Given the description of an element on the screen output the (x, y) to click on. 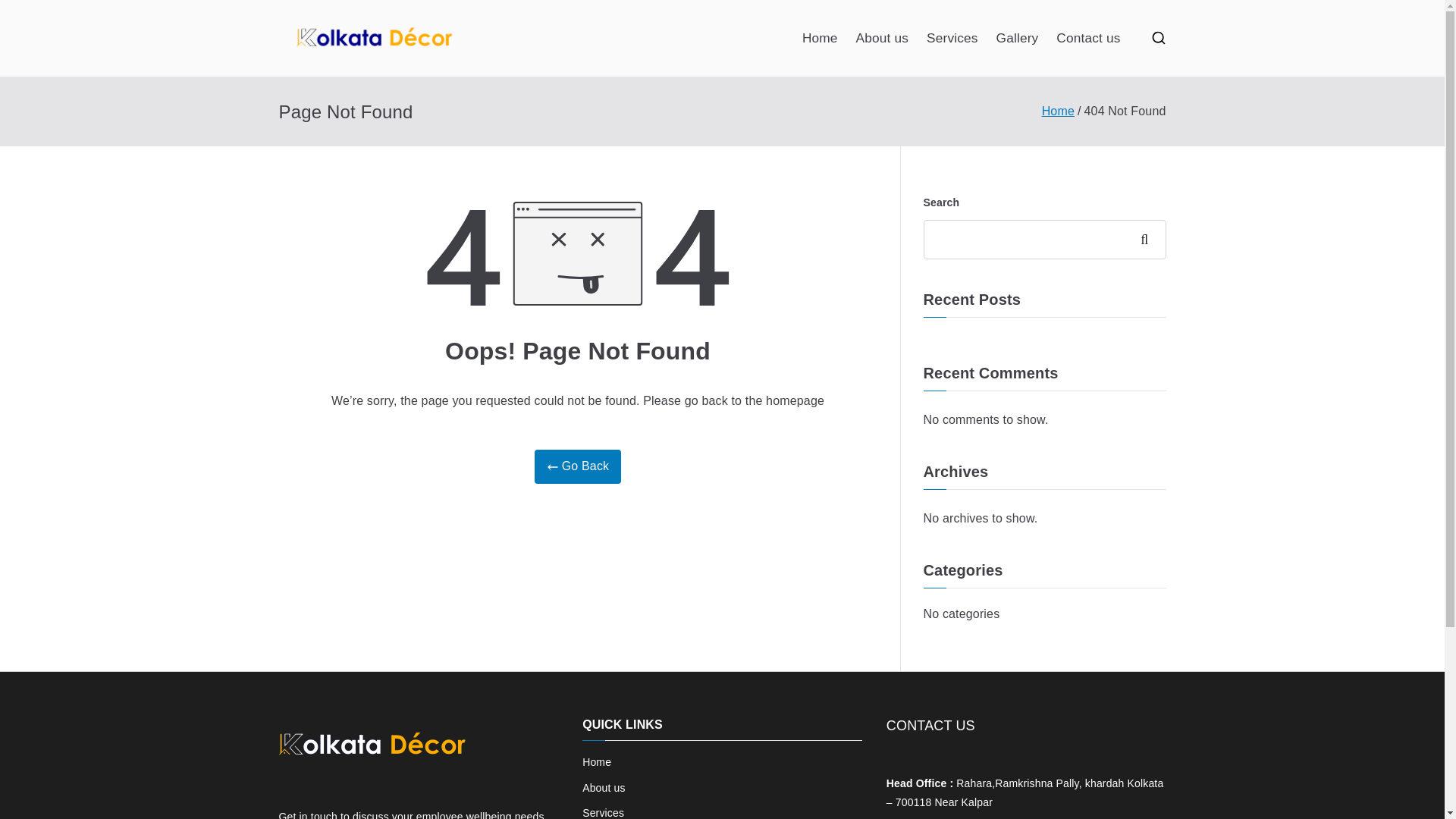
Kolkata Decore (594, 57)
Contact us (1088, 37)
Services (721, 811)
Home (721, 762)
Gallery (1017, 37)
Home (820, 37)
Search (26, 12)
Services (952, 37)
About us (882, 37)
About us (721, 787)
Go Back (577, 466)
Home (1058, 110)
